Given the description of an element on the screen output the (x, y) to click on. 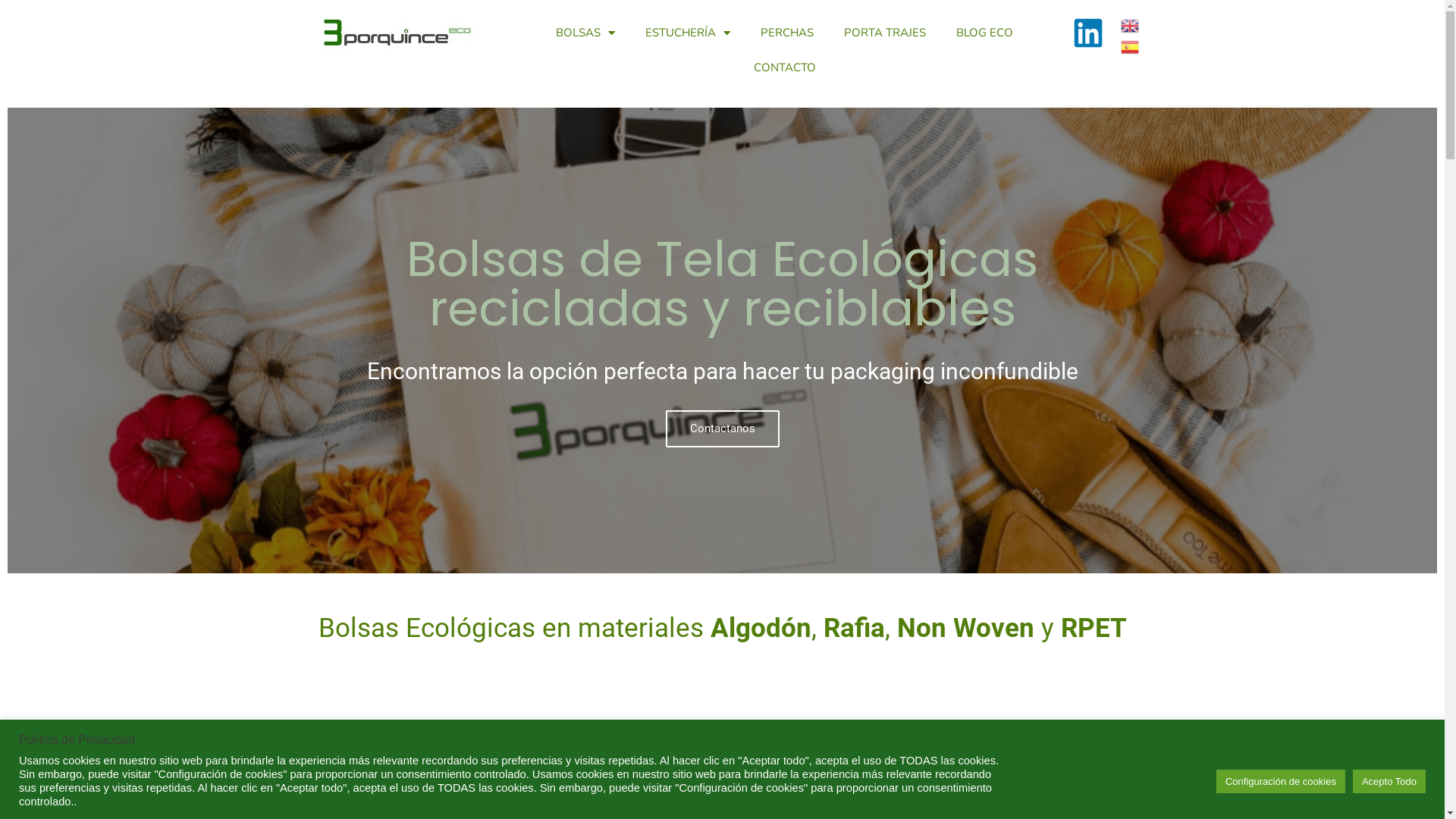
Spanish Element type: hover (1130, 46)
Acepto Todo Element type: text (1388, 780)
CONTACTO Element type: text (784, 67)
PERCHAS Element type: text (786, 32)
BOLSAS Element type: text (585, 32)
English Element type: hover (1130, 24)
BLOG ECO Element type: text (984, 32)
PORTA TRAJES Element type: text (884, 32)
